Given the description of an element on the screen output the (x, y) to click on. 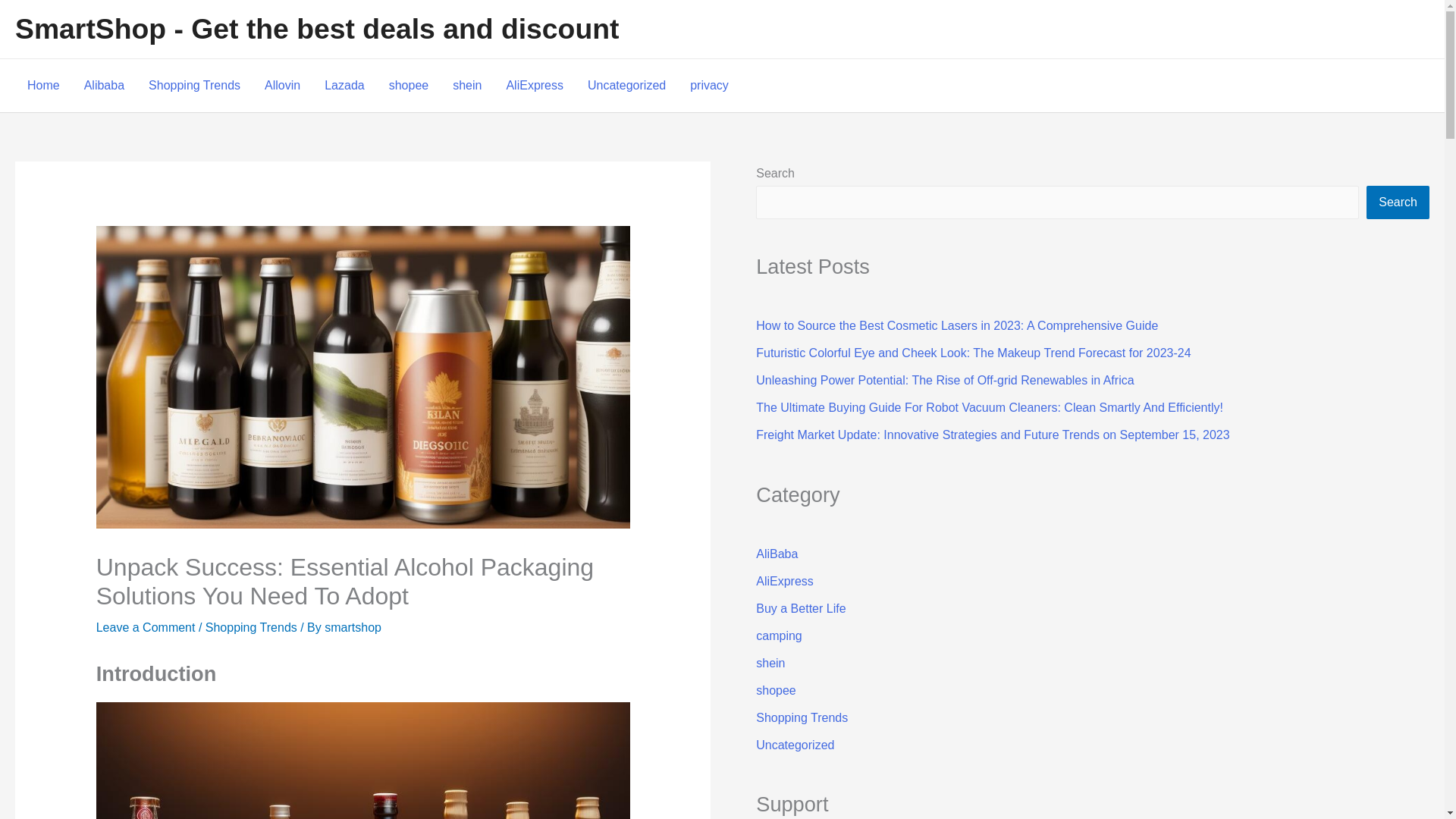
privacy (709, 85)
Buy a Better Life (800, 608)
View all posts by smartshop (352, 626)
Alibaba (103, 85)
SmartShop - Get the best deals and discount (316, 29)
shein (467, 85)
Shopping Trends (251, 626)
AliExpress (784, 581)
smartshop (352, 626)
Search (1398, 202)
AliBaba (776, 553)
